Given the description of an element on the screen output the (x, y) to click on. 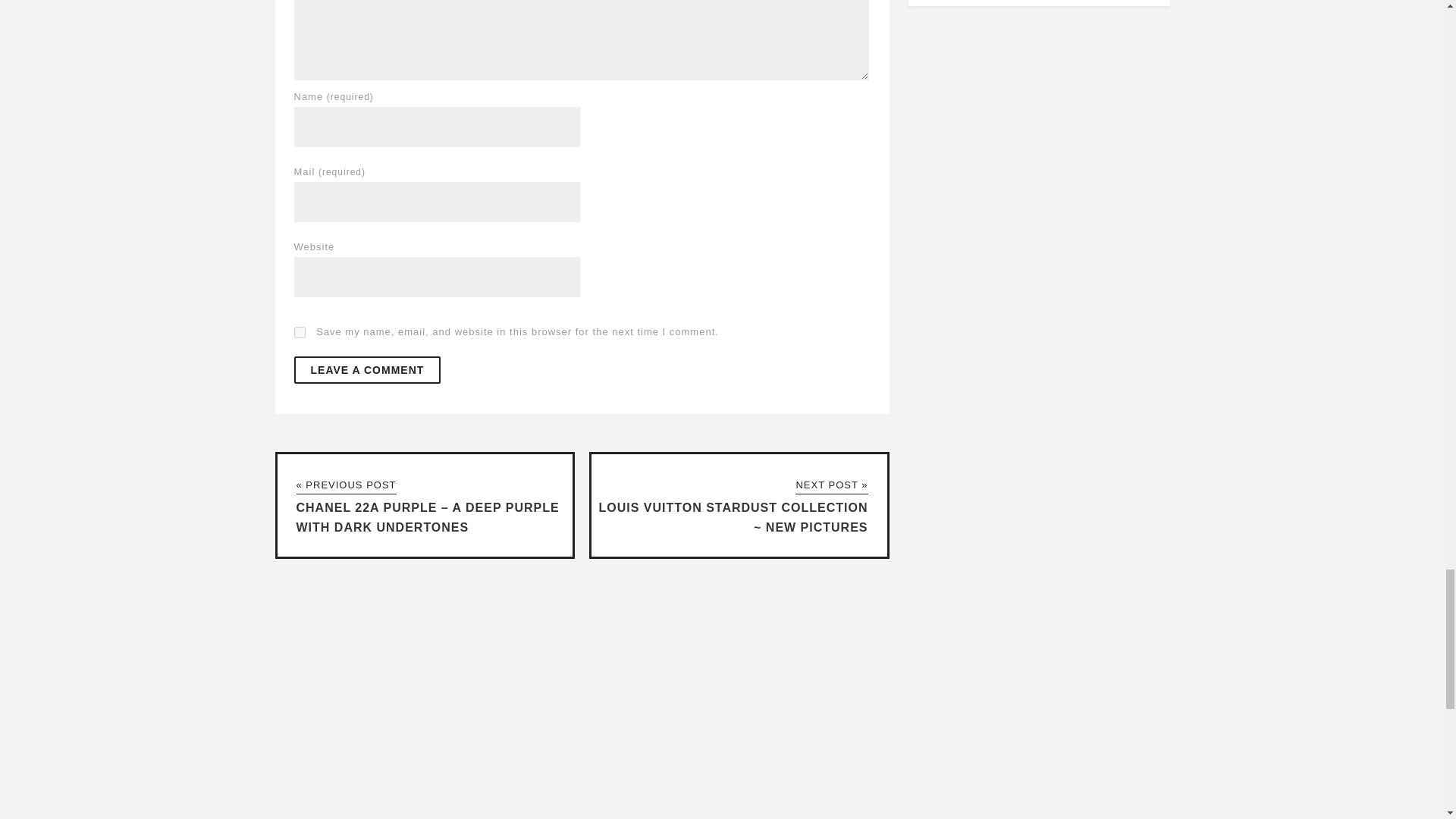
Leave a Comment (367, 370)
yes (299, 332)
Leave a Comment (367, 370)
